Given the description of an element on the screen output the (x, y) to click on. 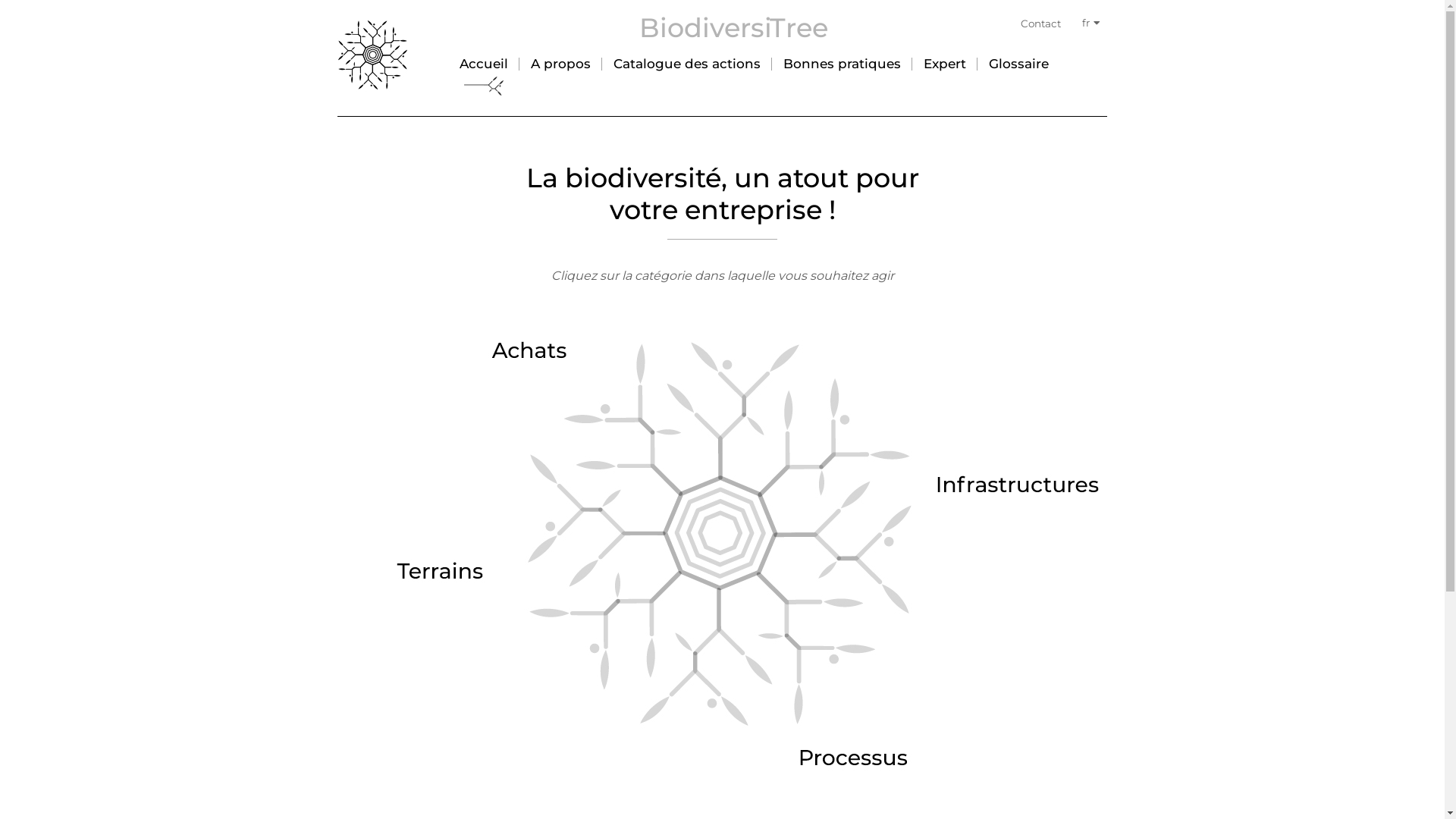
Catalogue des actions Element type: text (686, 64)
Contact Element type: text (1040, 23)
Accueil Element type: hover (372, 55)
Aller au contenu principal Element type: text (0, 0)
Glossaire Element type: text (1018, 64)
Bonnes pratiques Element type: text (841, 64)
Accueil Element type: text (483, 64)
Expert Element type: text (944, 64)
A propos Element type: text (560, 64)
fr Element type: text (1089, 26)
